Given the description of an element on the screen output the (x, y) to click on. 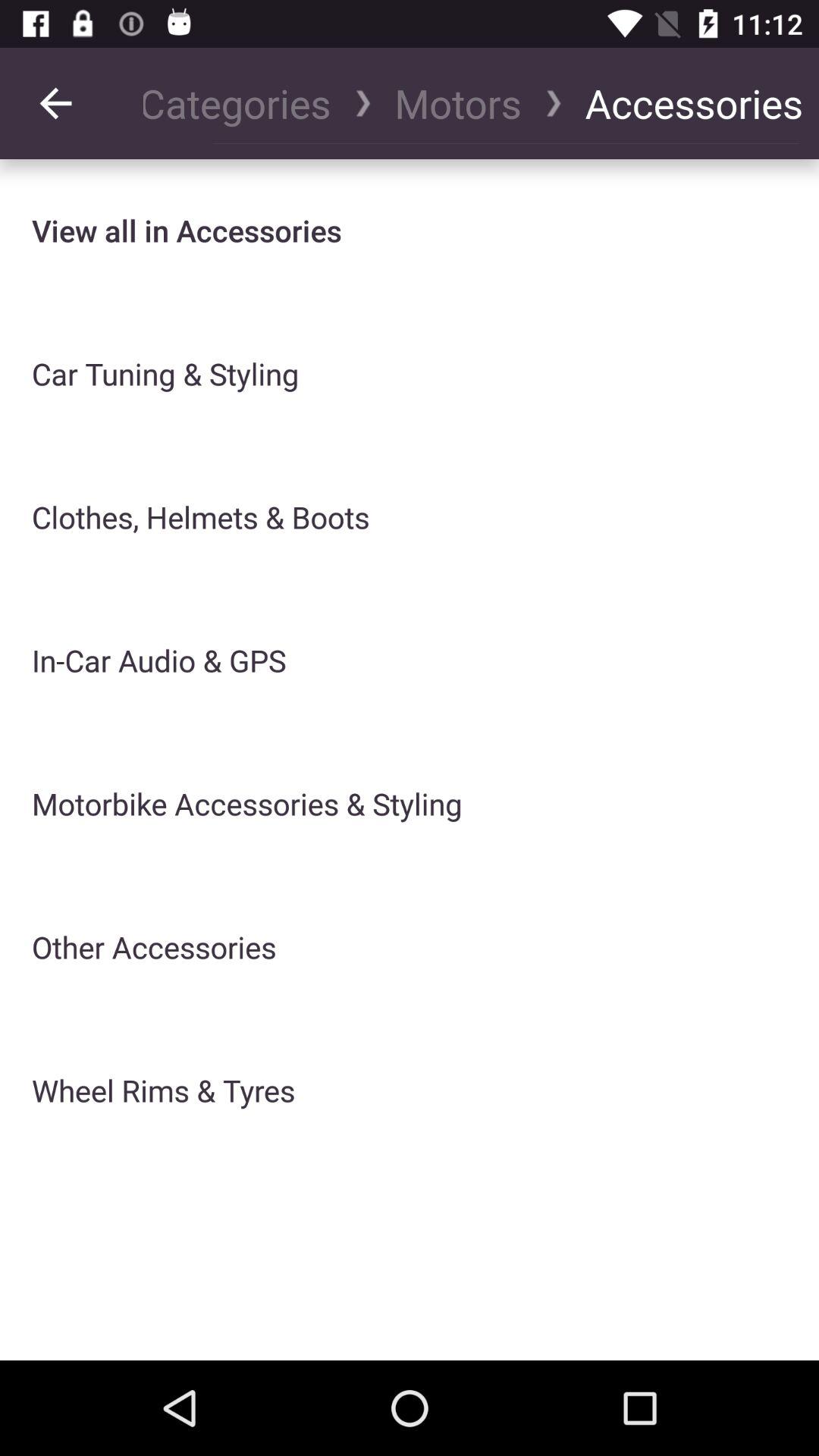
click item above the clothes, helmets & boots (165, 373)
